Given the description of an element on the screen output the (x, y) to click on. 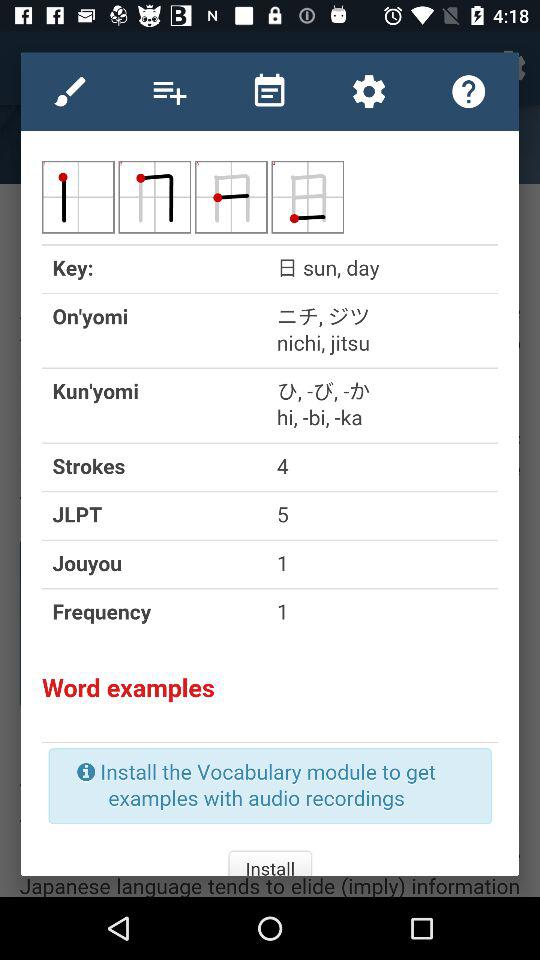
help answer questions (468, 91)
